Given the description of an element on the screen output the (x, y) to click on. 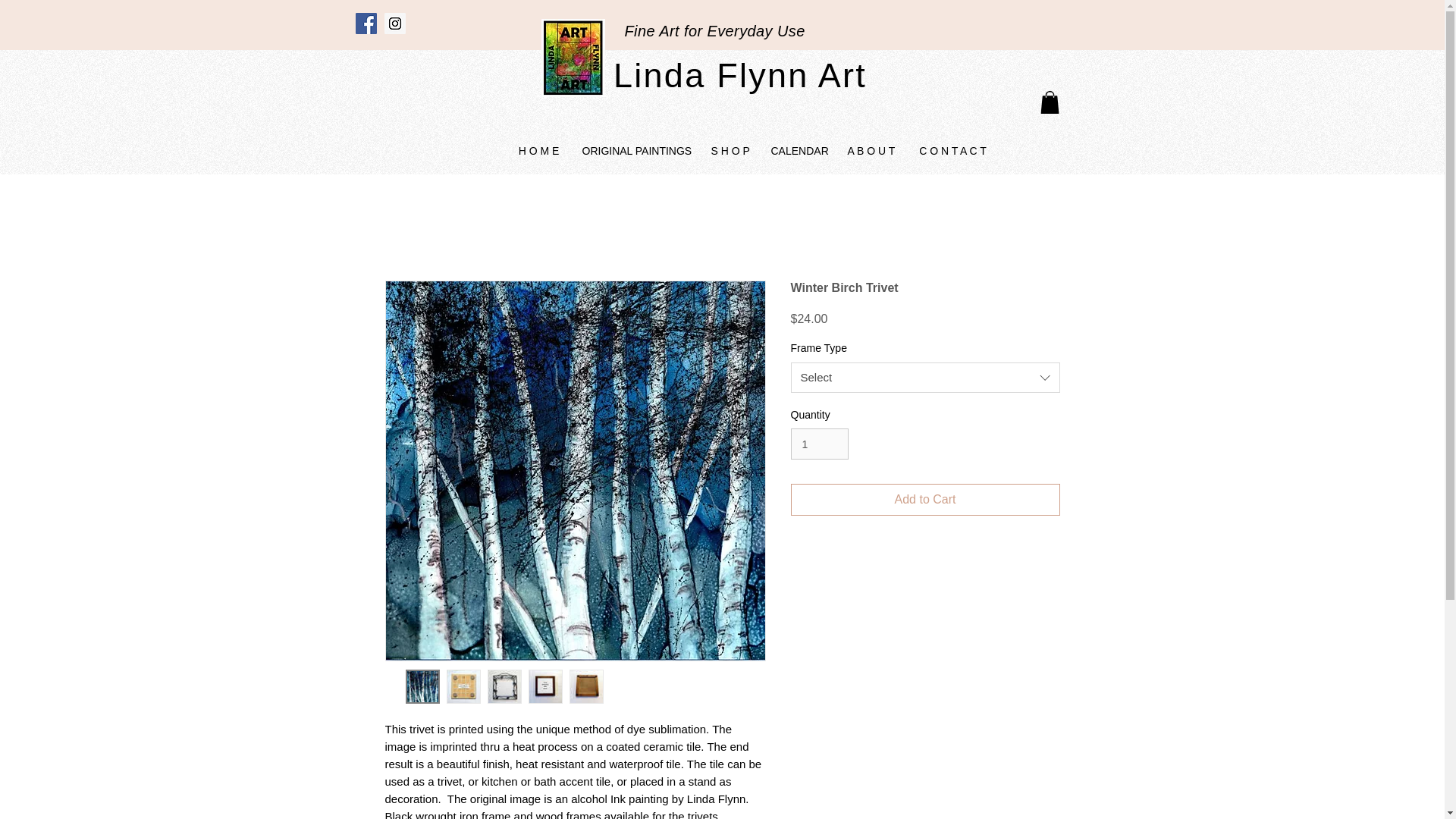
H O M E (538, 150)
C O N T A C T (952, 150)
CALENDAR (797, 150)
A B O U T (870, 150)
Add to Cart (924, 499)
1 (818, 443)
Select (924, 377)
ORIGINAL PAINTINGS (634, 150)
S H O P (728, 150)
Linda Flynn Art (739, 75)
